Given the description of an element on the screen output the (x, y) to click on. 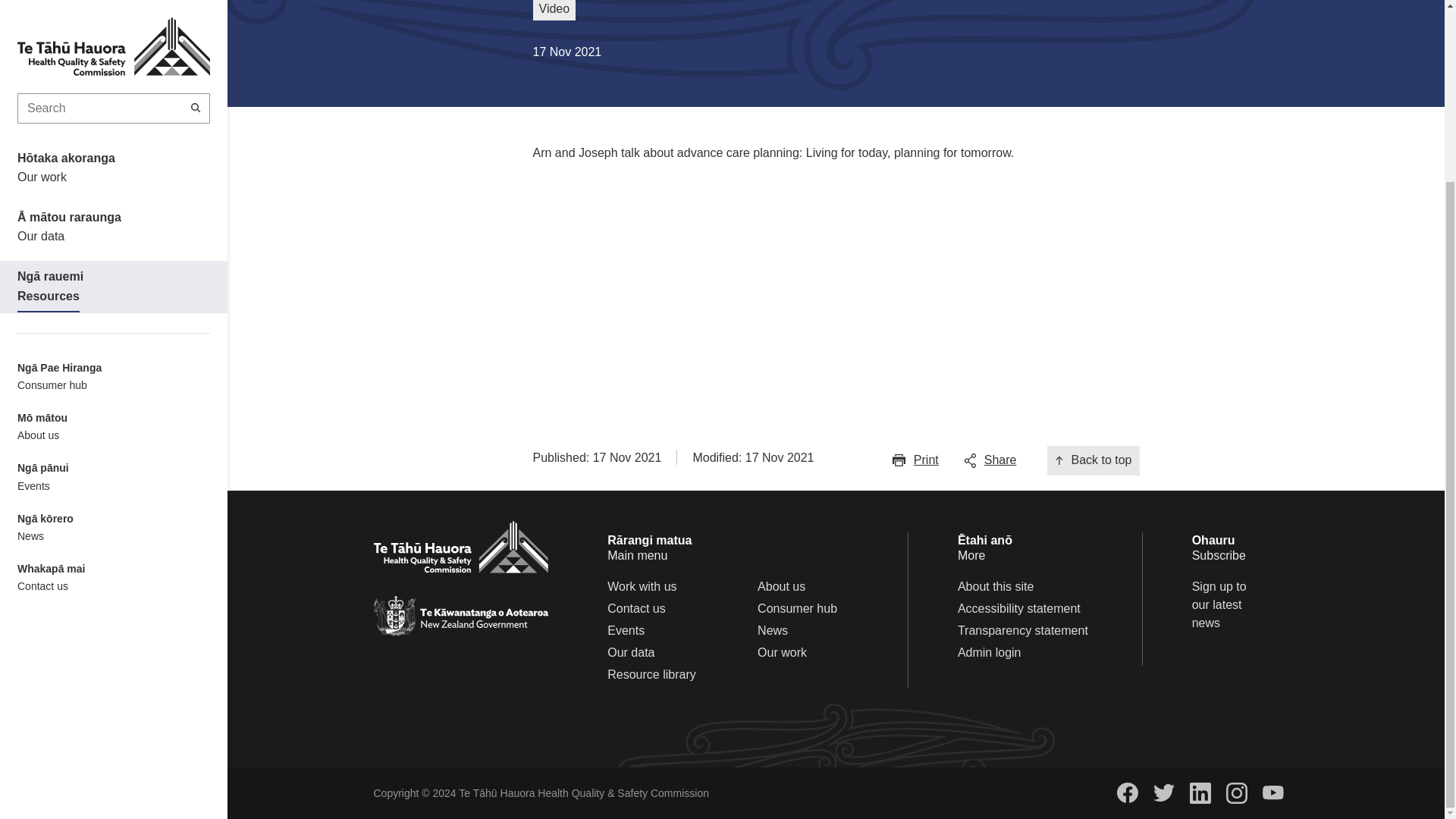
LinkedIn page (1199, 792)
Facebook page (1126, 792)
Instagram page (1235, 792)
Living For Today Planning For Tomorrow subtitled (714, 278)
Youtube page (1272, 792)
Twitter page (1163, 792)
New Zealand Government (459, 615)
